Given the description of an element on the screen output the (x, y) to click on. 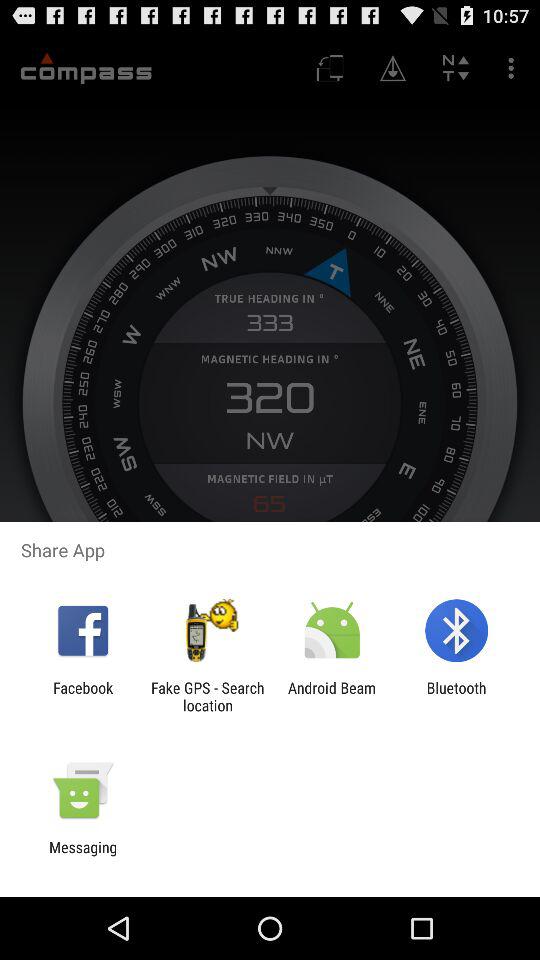
flip to android beam icon (332, 696)
